Given the description of an element on the screen output the (x, y) to click on. 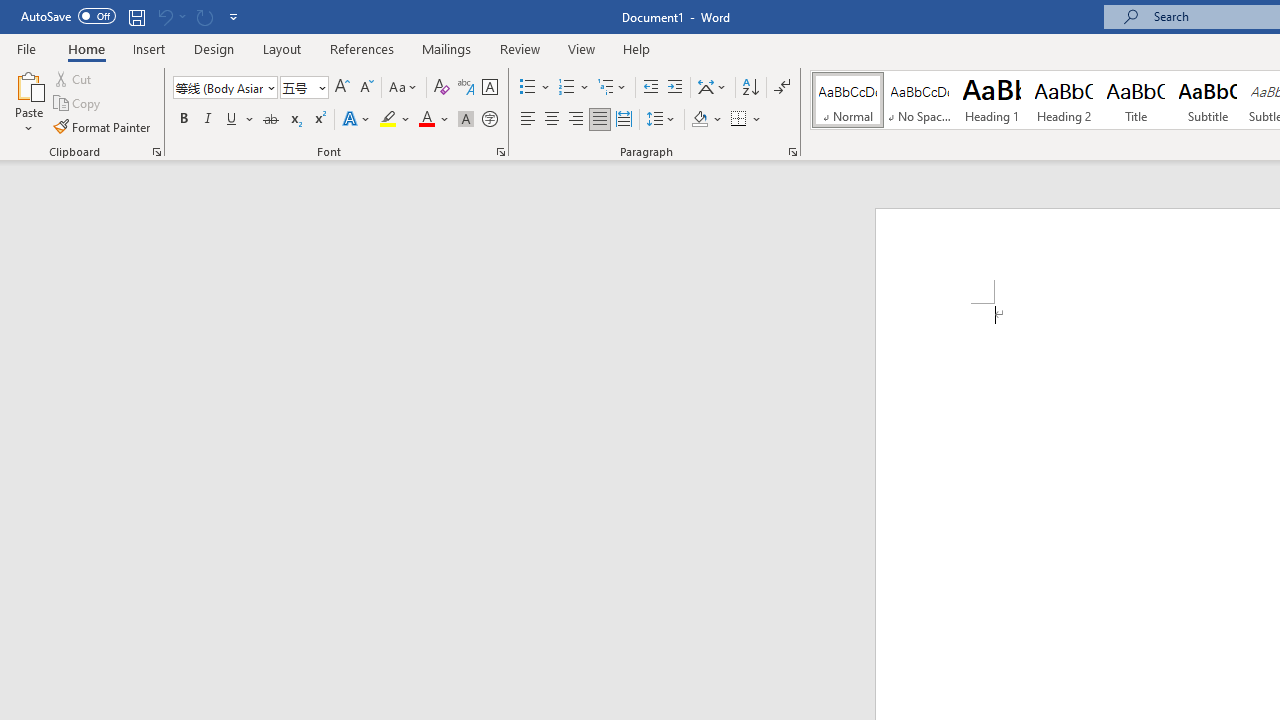
Can't Undo (170, 15)
